Given the description of an element on the screen output the (x, y) to click on. 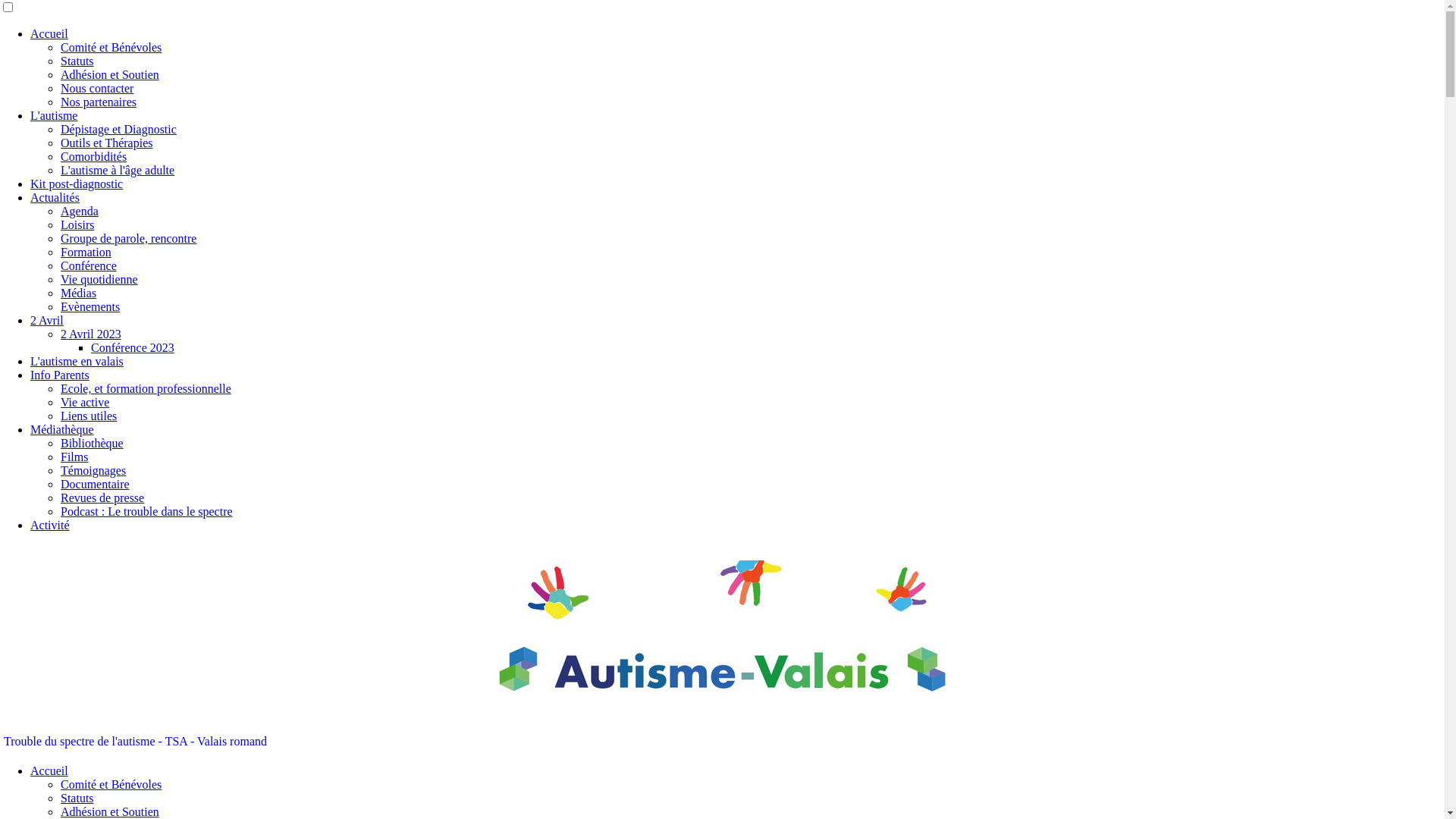
Liens utiles Element type: text (88, 415)
L'autisme en valais Element type: text (76, 360)
2 Avril Element type: text (46, 319)
Ecole, et formation professionnelle Element type: text (145, 388)
Nous contacter Element type: text (96, 87)
Accueil Element type: text (49, 33)
Kit post-diagnostic Element type: text (76, 183)
Documentaire Element type: text (94, 483)
Agenda Element type: text (79, 210)
Formation Element type: text (85, 251)
Films Element type: text (73, 456)
Loisirs Element type: text (77, 224)
Trouble du spectre de l'autisme - TSA - Valais romand Element type: text (134, 740)
2 Avril 2023 Element type: text (90, 333)
Groupe de parole, rencontre Element type: text (128, 238)
L'autisme Element type: text (53, 115)
Podcast : Le trouble dans le spectre Element type: text (146, 511)
Statuts Element type: text (77, 60)
Statuts Element type: text (77, 797)
Accueil Element type: text (49, 770)
Vie quotidienne Element type: text (99, 279)
Vie active Element type: text (84, 401)
Revues de presse Element type: text (102, 497)
Nos partenaires Element type: text (98, 101)
Info Parents Element type: text (59, 374)
